Given the description of an element on the screen output the (x, y) to click on. 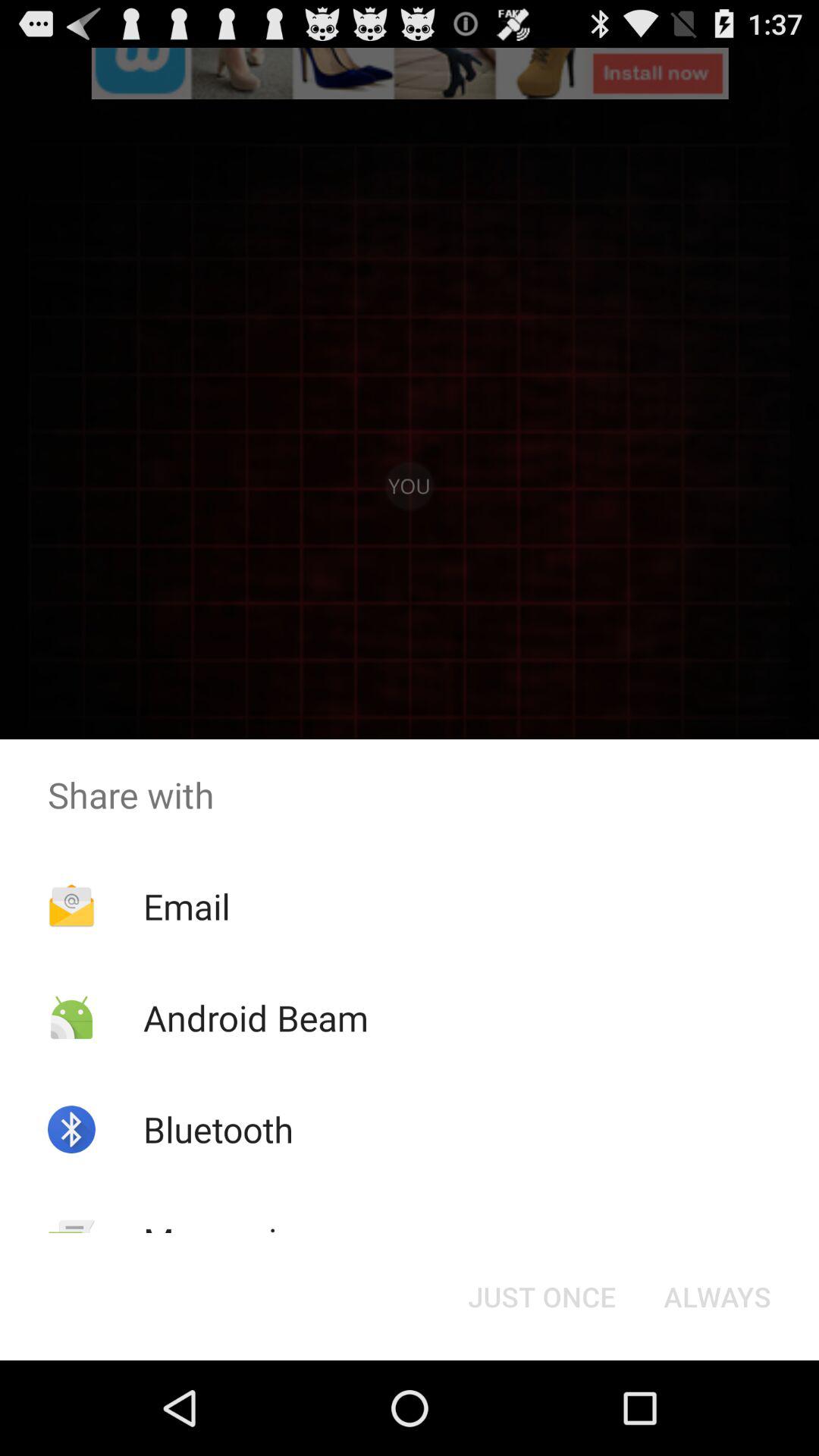
turn on the item below the email icon (255, 1017)
